Given the description of an element on the screen output the (x, y) to click on. 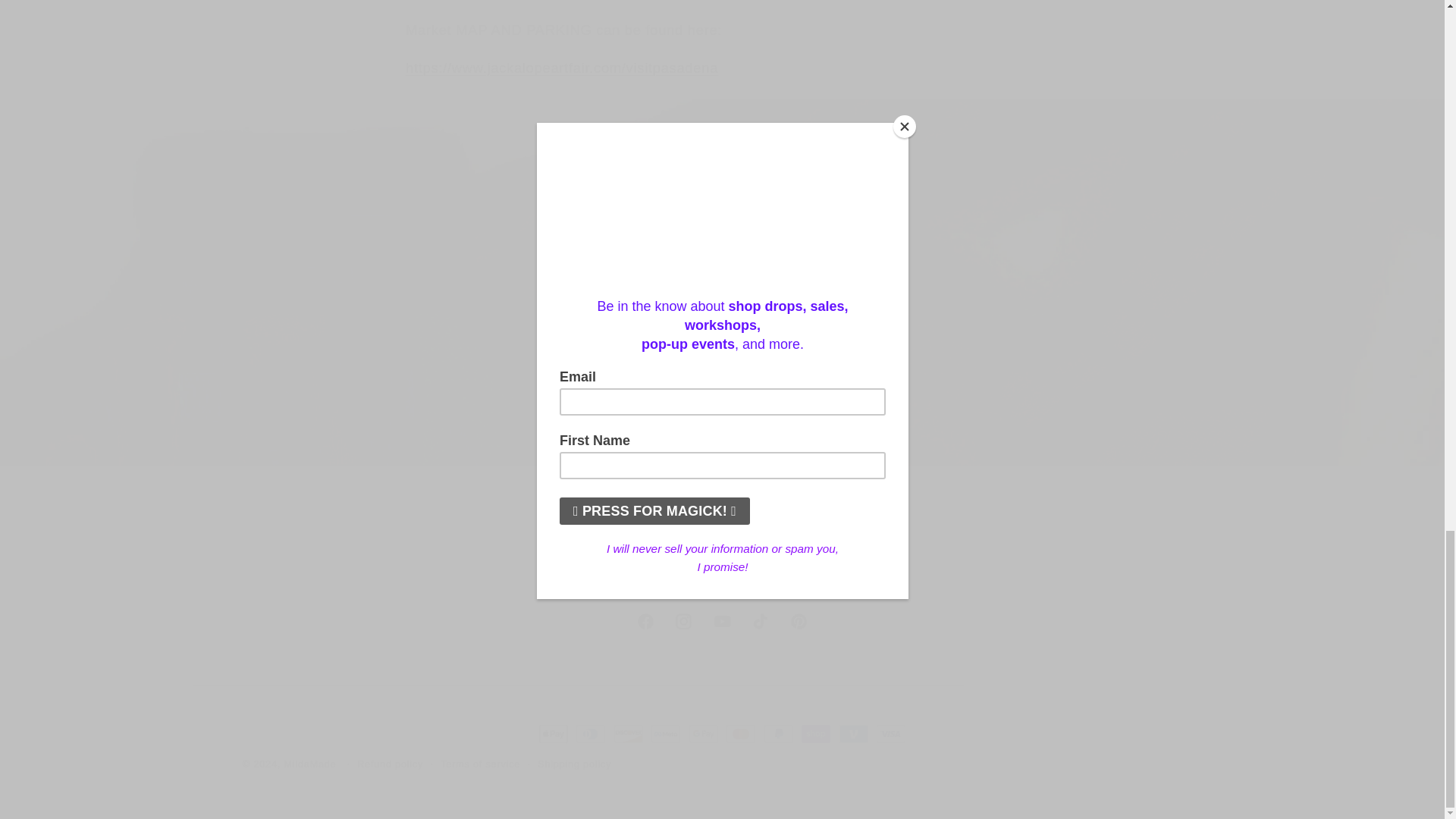
Blog Search Contact (722, 621)
Blog Search Contact (722, 578)
